Given the description of an element on the screen output the (x, y) to click on. 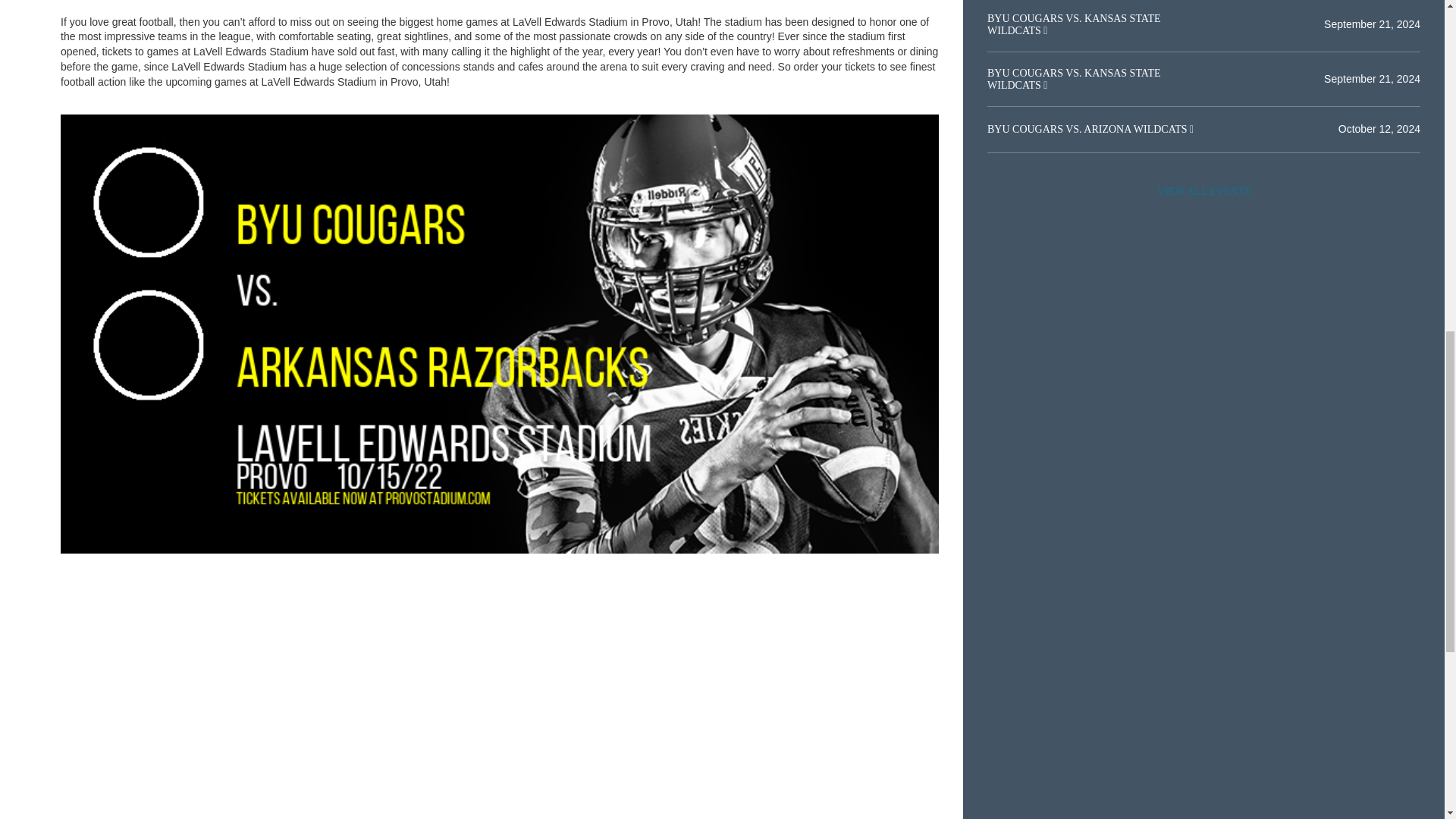
VIEW ALL EVENTS (1203, 191)
